Given the description of an element on the screen output the (x, y) to click on. 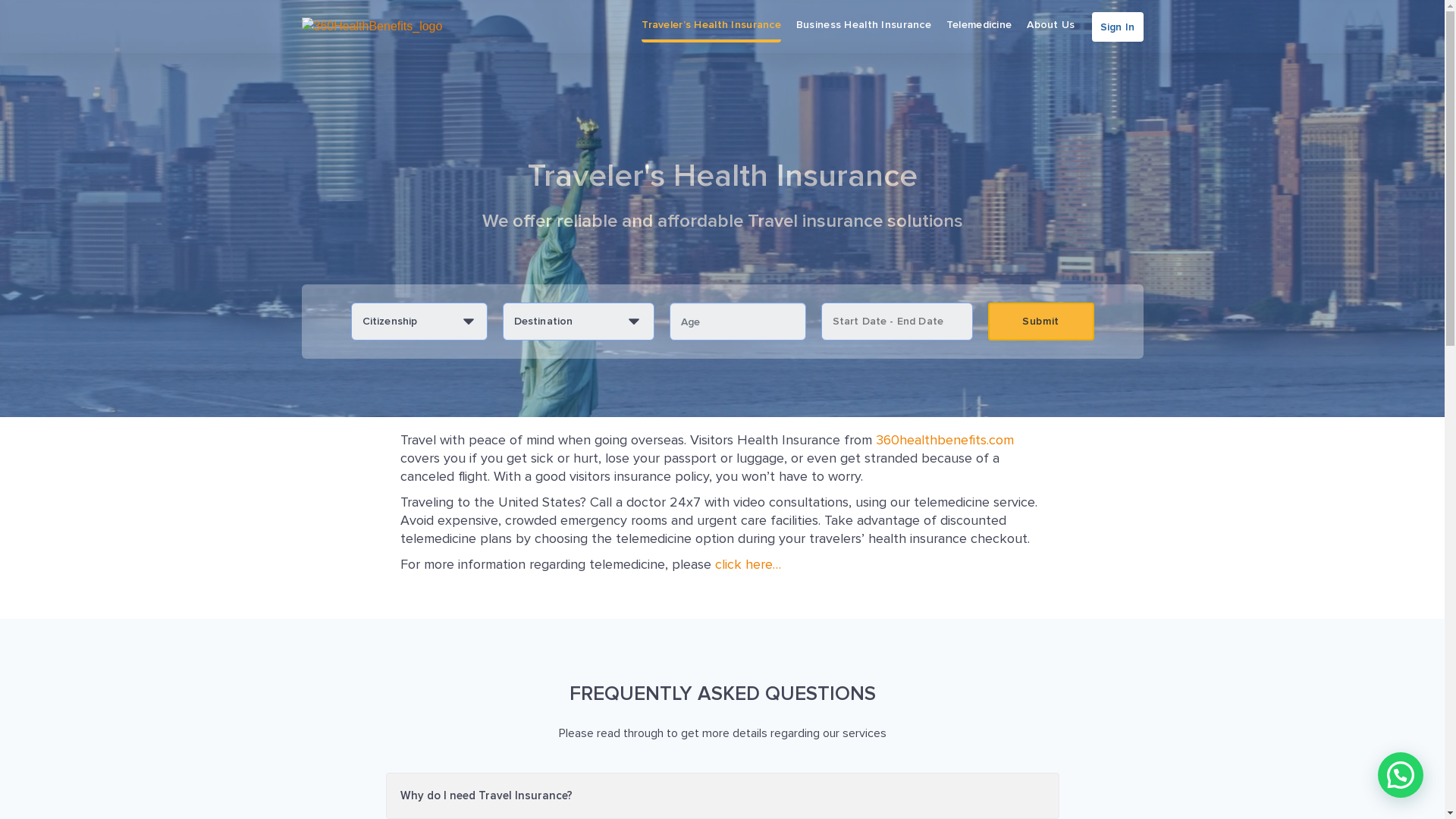
360healthbenefits.com Element type: text (944, 439)
Business Health Insurance Element type: text (863, 26)
Sign In Element type: text (1117, 26)
360HealthBenefits_logo Element type: hover (381, 26)
Telemedicine Element type: text (978, 26)
Submit Element type: text (1040, 321)
About Us Element type: text (1050, 26)
